Given the description of an element on the screen output the (x, y) to click on. 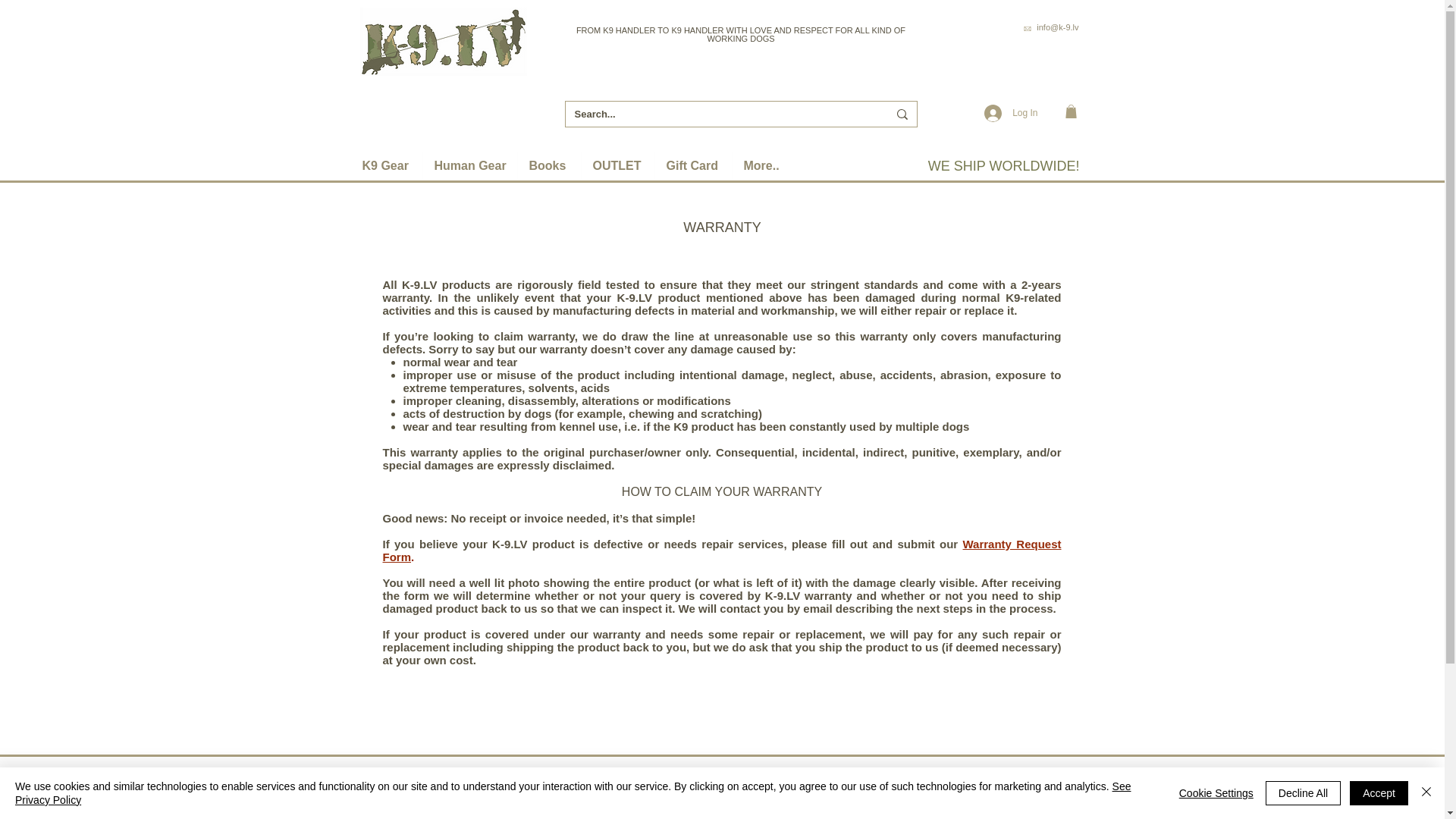
K9 Gear (386, 165)
Log In (1011, 112)
Subscribe Now (1018, 807)
Human Gear (469, 165)
Gift Card (693, 165)
www.k-9.lv (1064, 54)
OUTLET (616, 165)
Books (547, 165)
Warranty Request Form (721, 550)
WE SHIP WORLDWIDE! (1004, 165)
